Given the description of an element on the screen output the (x, y) to click on. 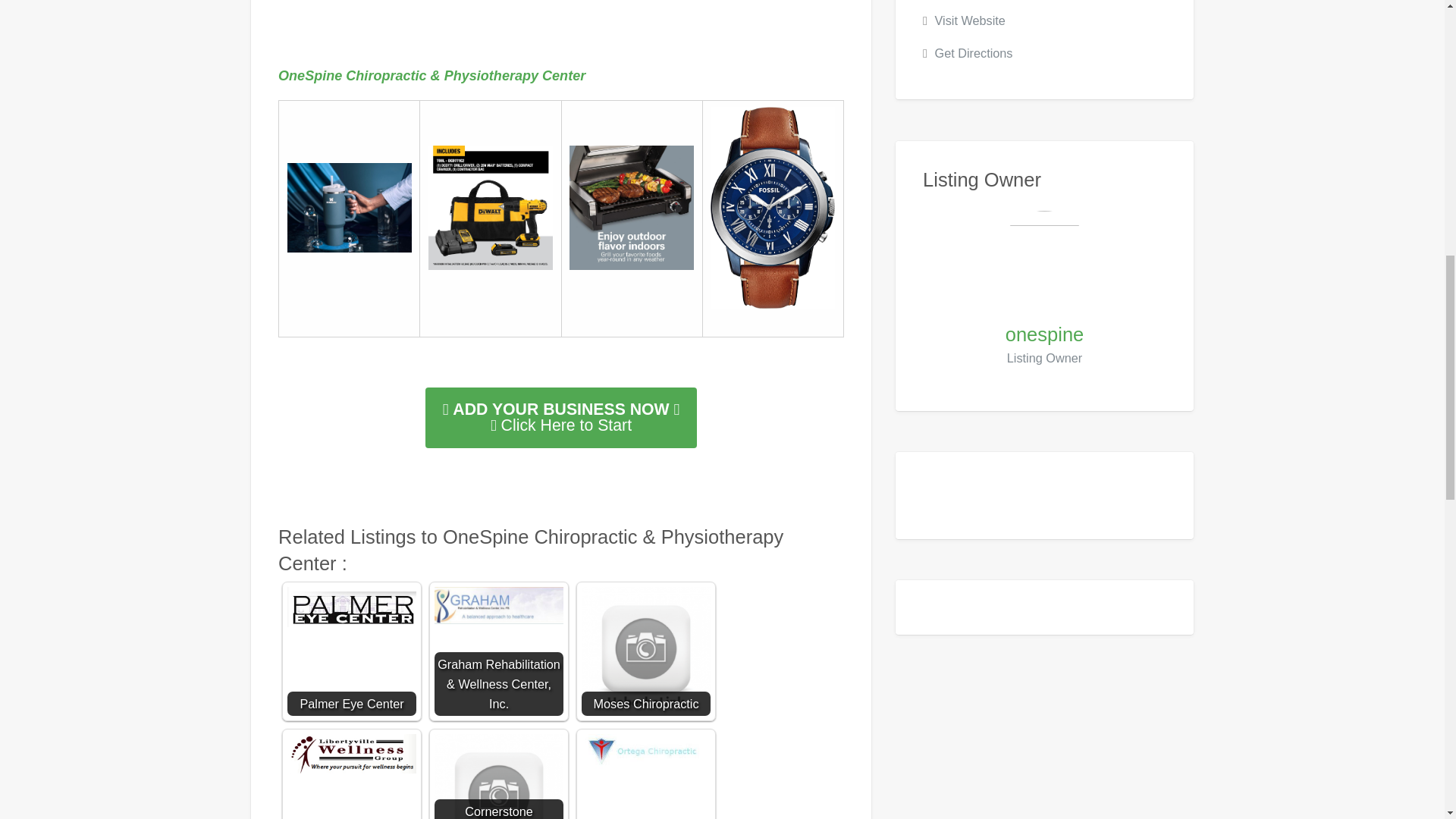
Cornerstone Chiropractic Health Center (498, 776)
Palmer Eye Center (351, 607)
Ortega Chiropractic Clinic (645, 751)
Moses Chiropractic (645, 651)
Libertyville Wellness Group (351, 753)
